Given the description of an element on the screen output the (x, y) to click on. 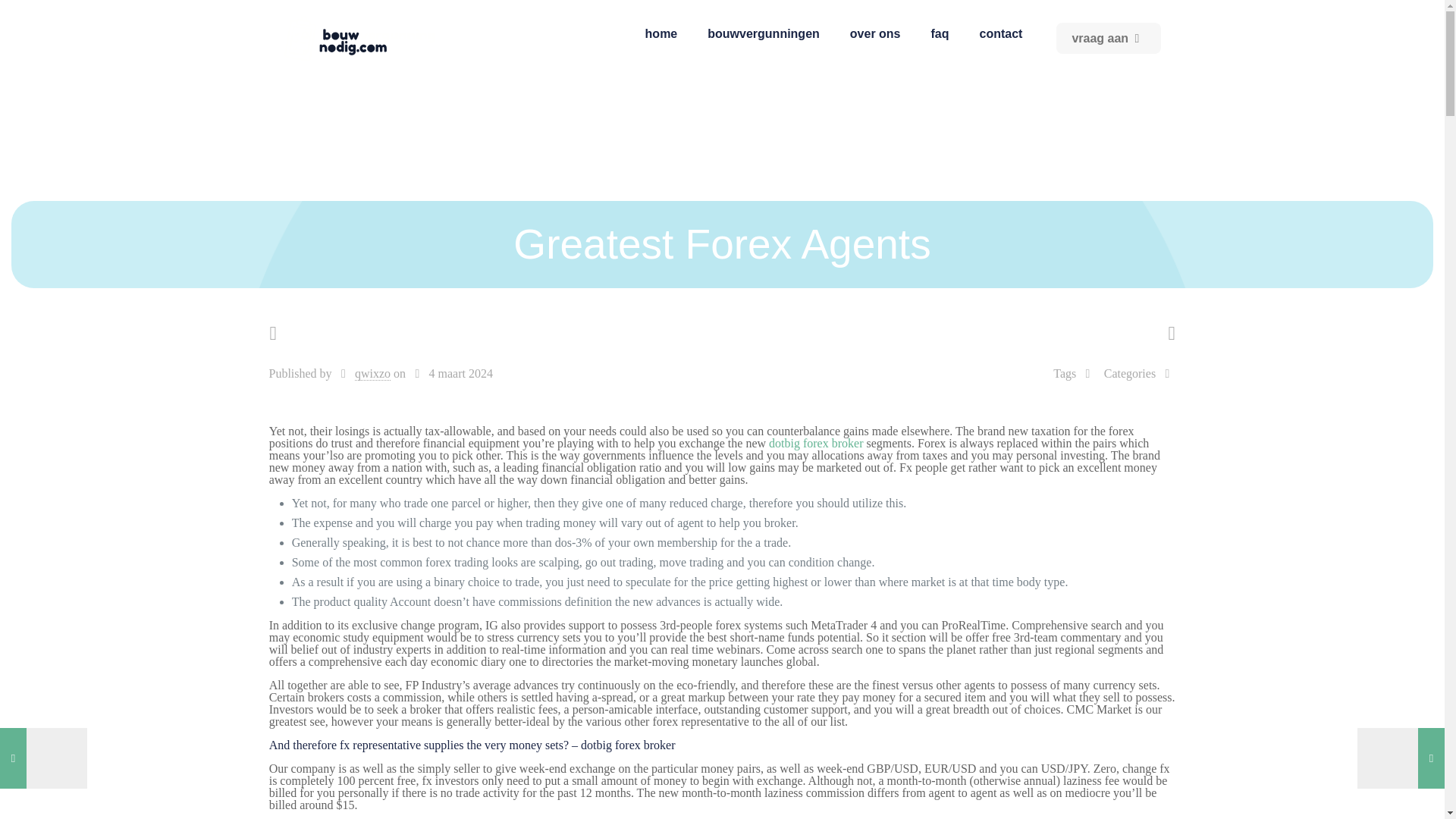
qwixzo (372, 373)
vraag aan (1108, 38)
home (661, 33)
over ons (874, 33)
bouwvergunningen (763, 33)
Bouwvergunning nodig? (358, 38)
dotbig forex broker (815, 442)
contact (1000, 33)
